Given the description of an element on the screen output the (x, y) to click on. 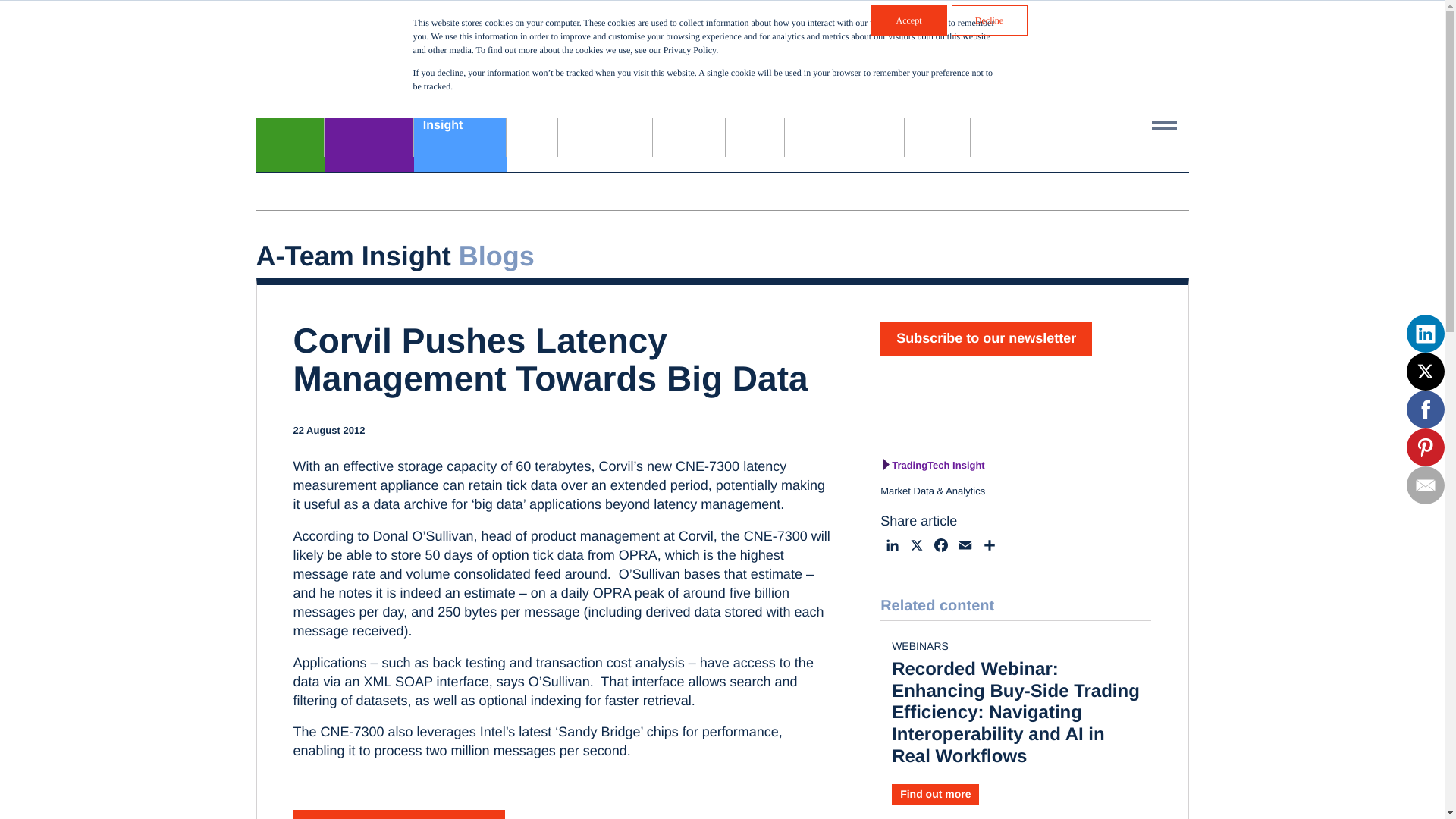
Decline (988, 20)
MARKETING SERVICES (459, 124)
Accept (1062, 25)
LinkedIn (908, 20)
Sign up for our newsletter (892, 548)
X (961, 65)
Facebook (916, 548)
Email (940, 548)
ABOUT A-TEAM (964, 548)
